Given the description of an element on the screen output the (x, y) to click on. 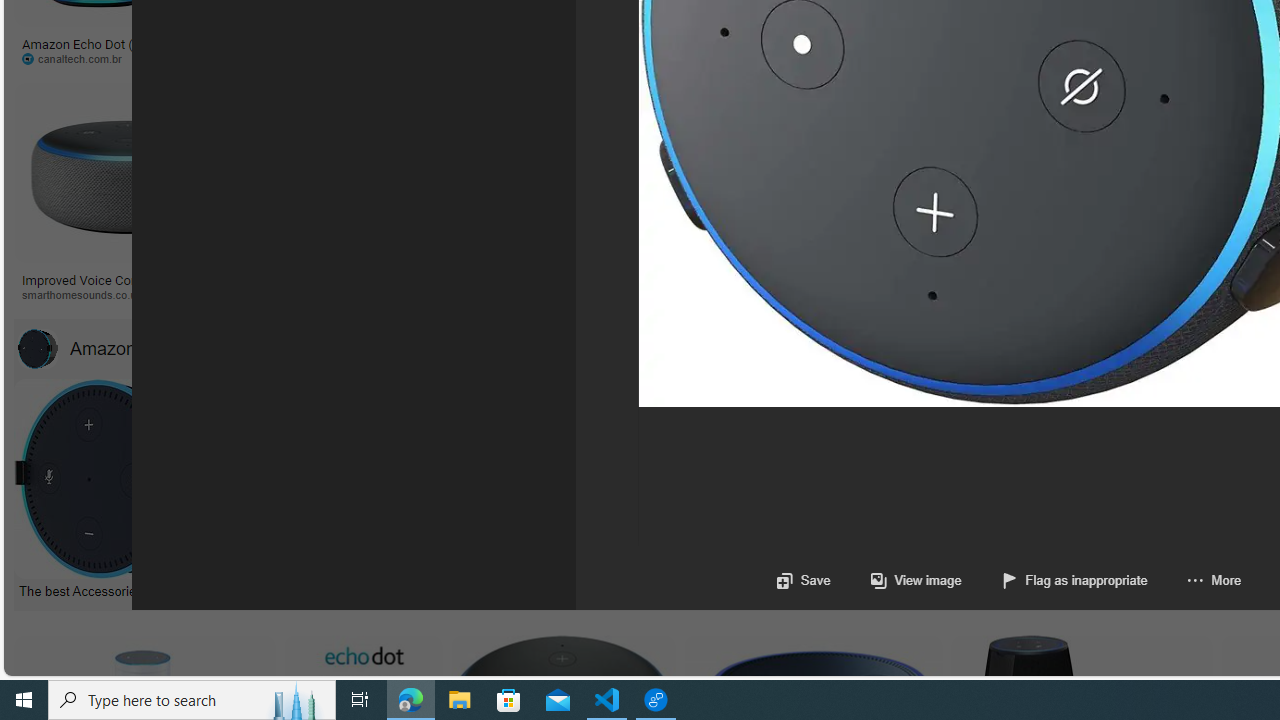
Image result for Amazon Echo Dot PNG (944, 172)
Image result for Amazon Echo Dot PNG (944, 172)
smarthomesounds.co.uk (88, 294)
Save (802, 580)
